Given the description of an element on the screen output the (x, y) to click on. 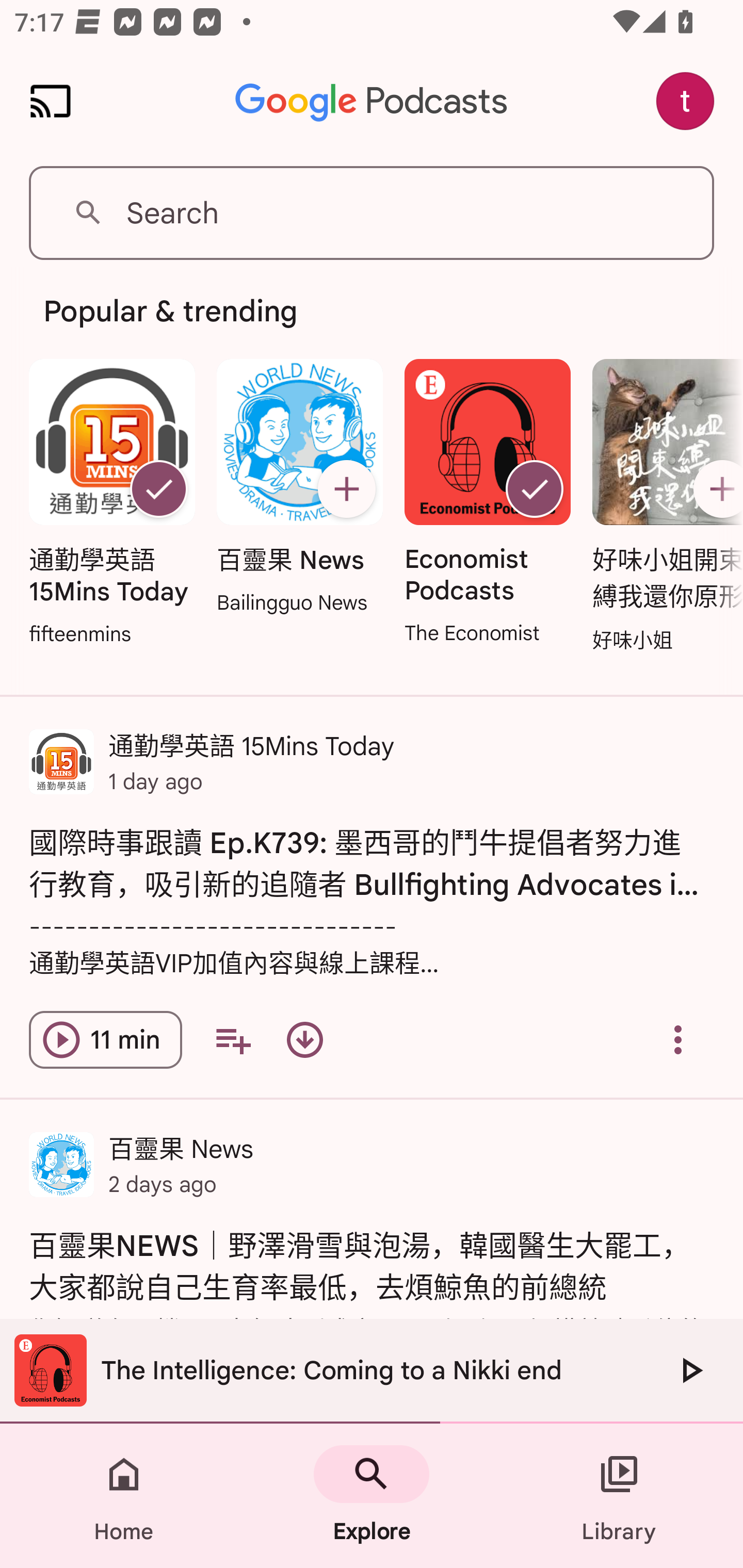
Cast. Disconnected (50, 101)
Search (371, 212)
百靈果 News Subscribe 百靈果 News Bailingguo News (299, 488)
好味小姐開束縛我還你原形 Subscribe 好味小姐開束縛我還你原形 好味小姐 (662, 507)
Unsubscribe (158, 489)
Subscribe (346, 489)
Unsubscribe (534, 489)
Subscribe (714, 489)
Add to your queue (232, 1040)
Download episode (304, 1040)
Overflow menu (677, 1040)
Play (690, 1370)
Home (123, 1495)
Library (619, 1495)
